Given the description of an element on the screen output the (x, y) to click on. 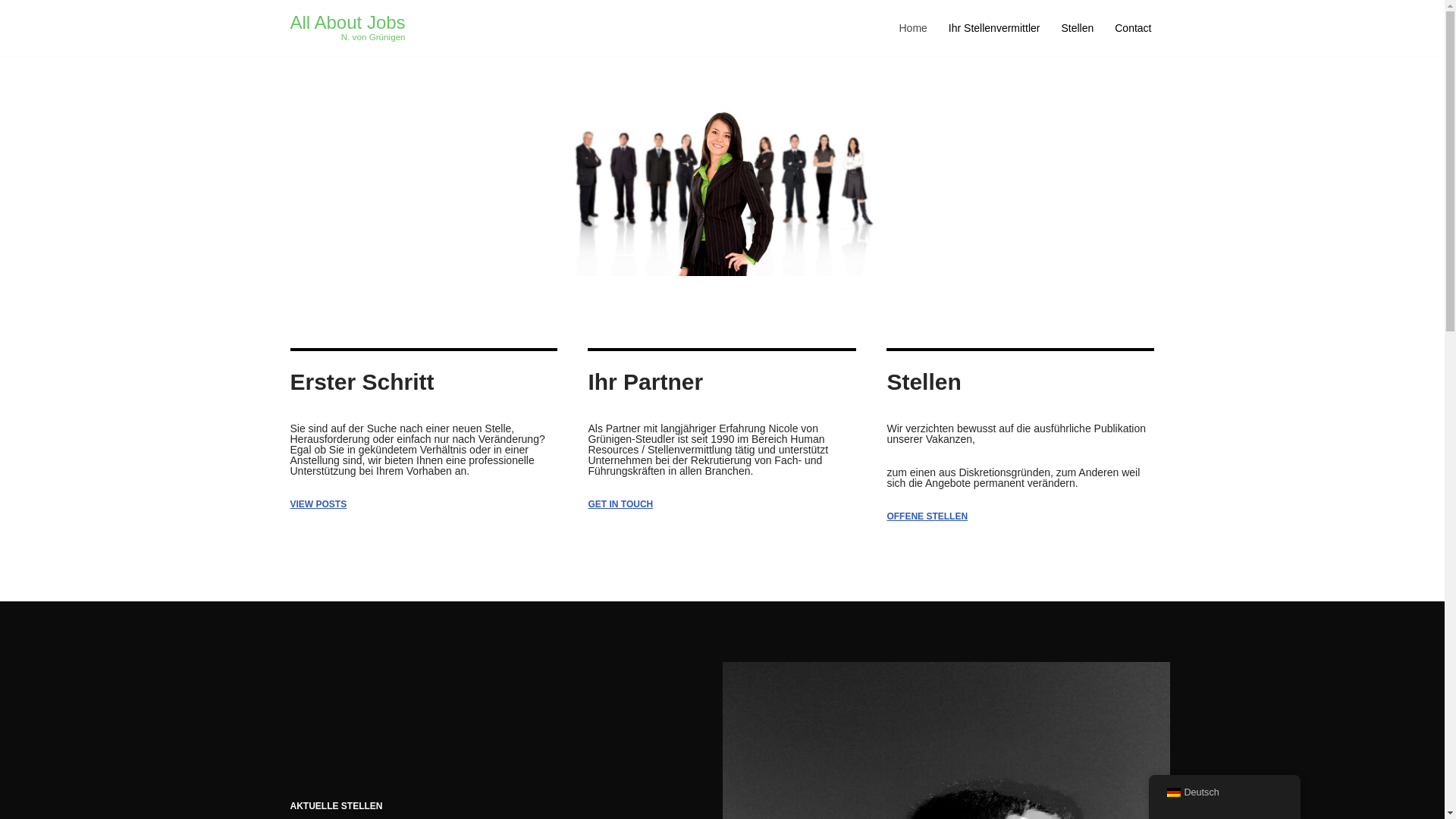
Zum Inhalt springen Element type: text (11, 31)
Stellen Element type: text (1076, 27)
Contact Element type: text (1132, 27)
VIEW POSTS Element type: text (317, 503)
GET IN TOUCH Element type: text (619, 503)
Deutsch Element type: text (1223, 792)
Home Element type: text (912, 27)
OFFENE STELLEN Element type: text (926, 516)
Ihr Stellenvermittler Element type: text (994, 27)
Deutsch Element type: hover (1172, 792)
